Given the description of an element on the screen output the (x, y) to click on. 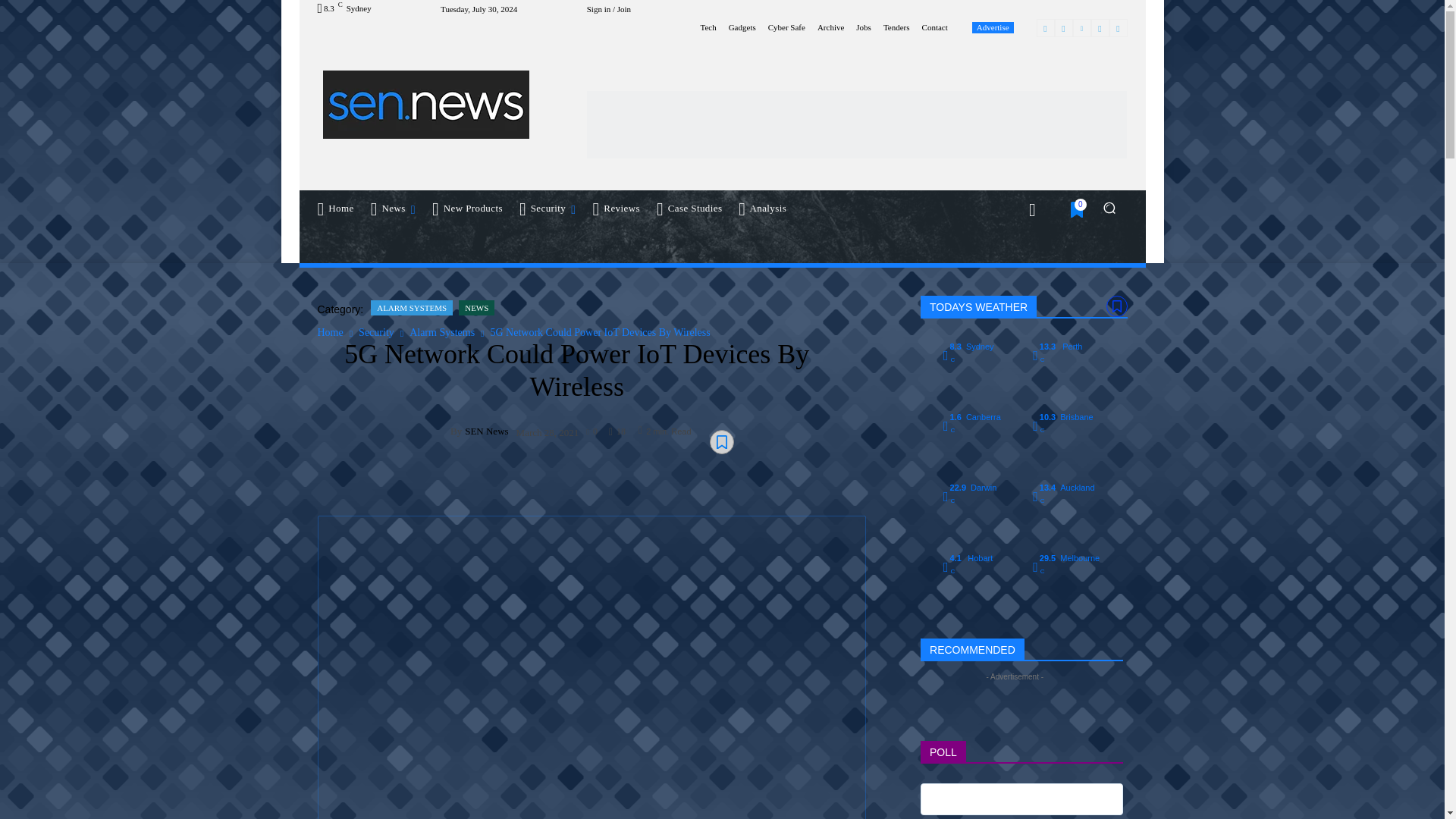
News (393, 208)
Tech (708, 27)
Home (335, 208)
Cyber Safe (786, 27)
Facebook (1044, 27)
Jobs (863, 27)
Gadgets (742, 27)
Tenders (896, 27)
Contact (934, 27)
Linkedin (1080, 27)
Archive (830, 27)
Instagram (1062, 27)
Advertise (992, 27)
